Given the description of an element on the screen output the (x, y) to click on. 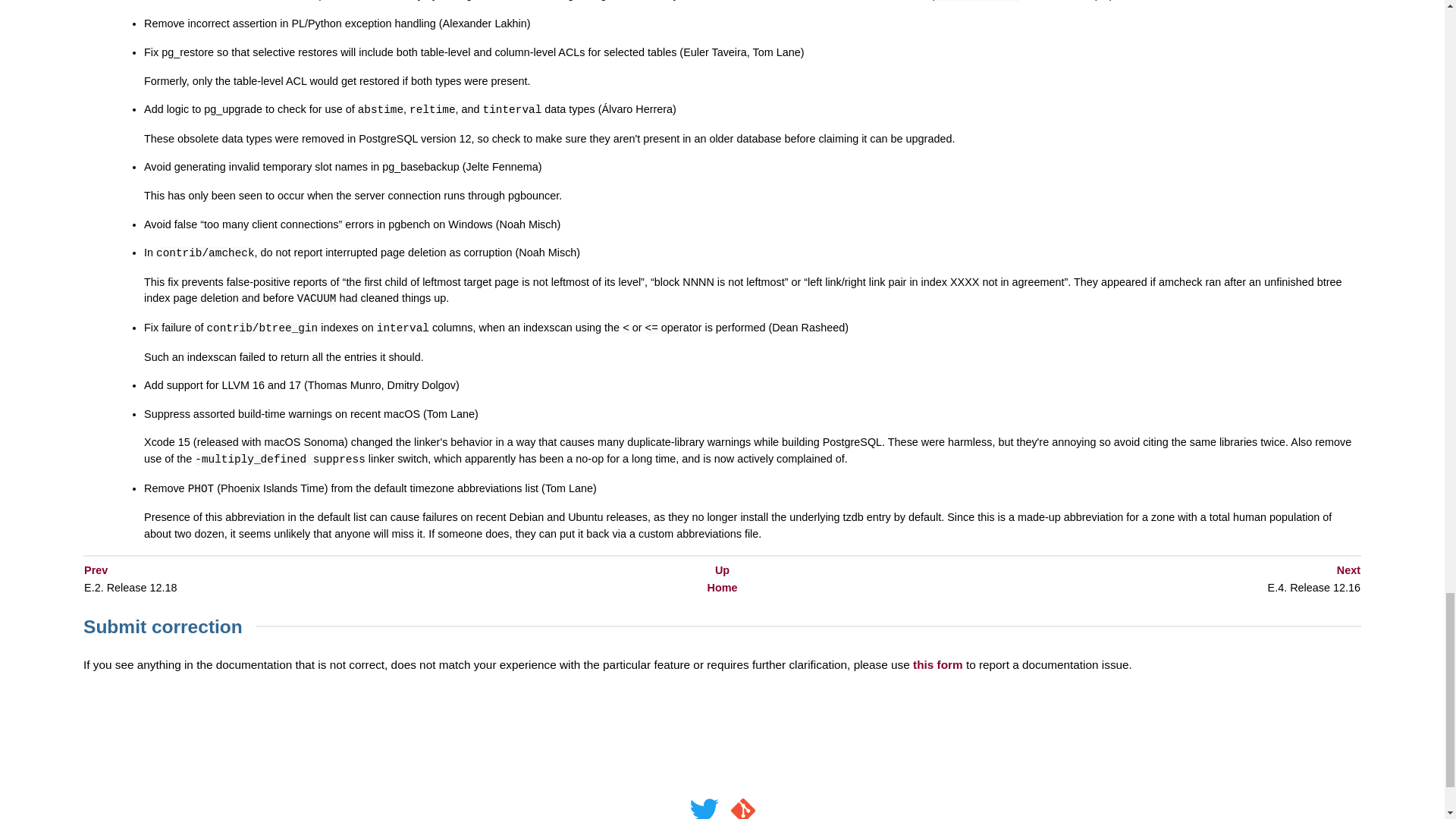
this form (937, 664)
Up (721, 570)
Prev (95, 570)
Home (721, 587)
Next (1347, 570)
